Given the description of an element on the screen output the (x, y) to click on. 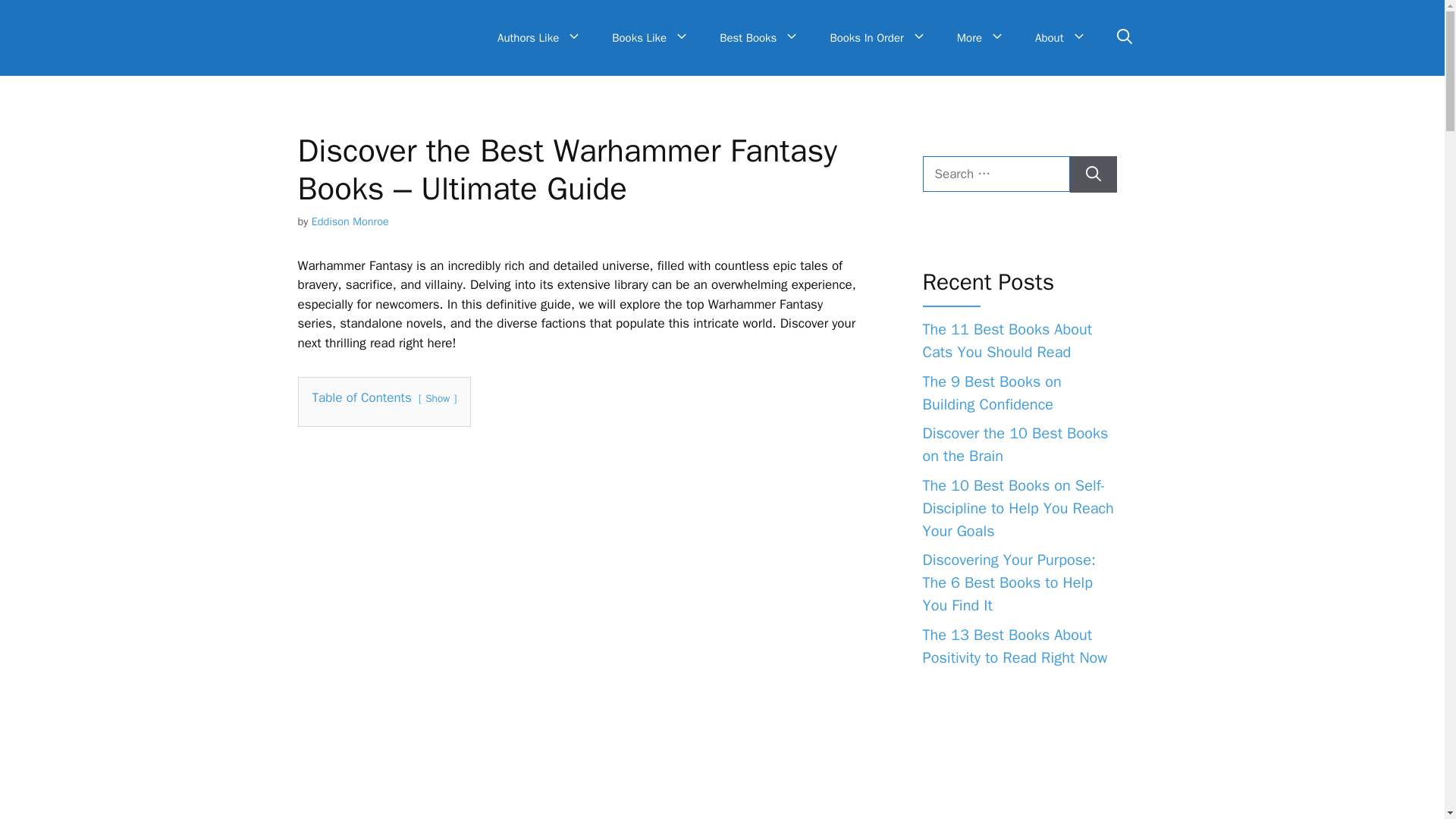
Books Like (650, 37)
Best Books (758, 37)
View all posts by Eddison Monroe (349, 221)
Authors Like (538, 37)
